Given the description of an element on the screen output the (x, y) to click on. 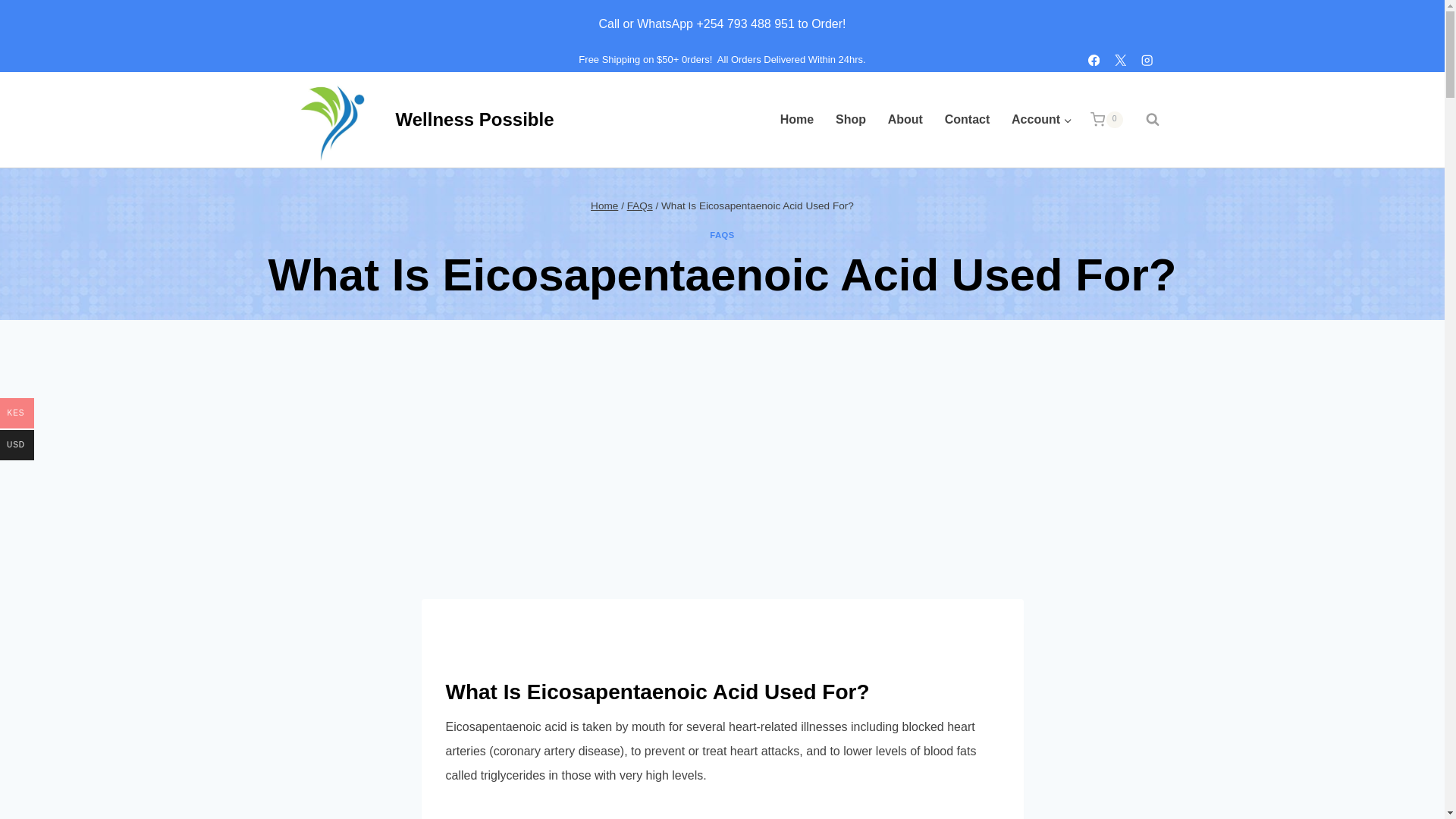
Home (796, 119)
Home (604, 205)
Wellness Possible (419, 119)
About (904, 119)
0 (1106, 119)
Shop (851, 119)
FAQs (639, 205)
Account (1042, 119)
FAQS (722, 234)
Contact (966, 119)
